Given the description of an element on the screen output the (x, y) to click on. 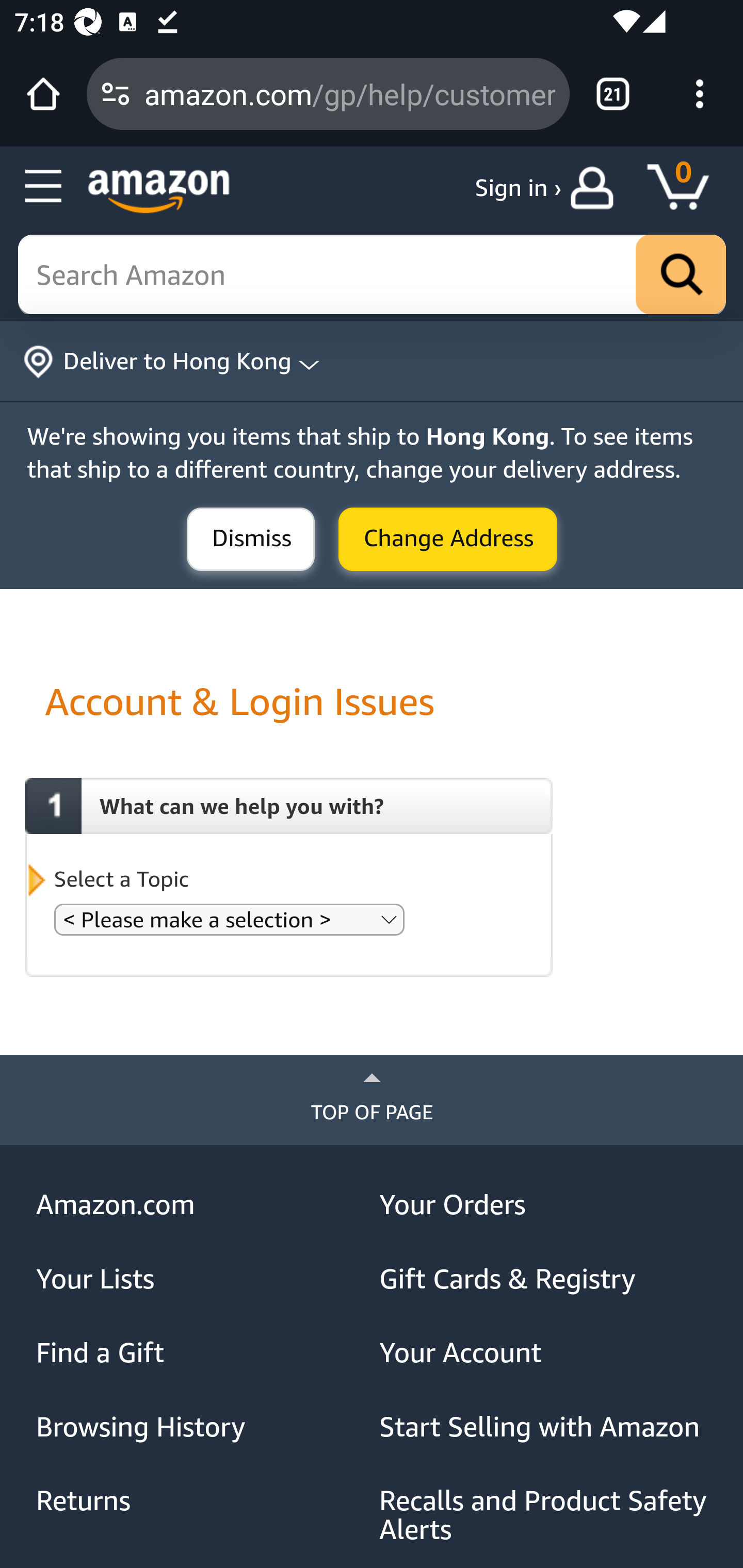
Open the home page (43, 93)
Connection is secure (115, 93)
Switch or close tabs (612, 93)
Customize and control Google Chrome (699, 93)
Open Menu (44, 187)
Sign in › (518, 188)
your account (596, 188)
Cart 0 (687, 188)
Amazon (158, 191)
Go (681, 275)
Submit (250, 539)
Submit (447, 539)
< Please make a selection > (229, 919)
Top of page TOP OF PAGE (371, 1099)
Amazon.com (201, 1204)
Your Orders (543, 1204)
Your Lists (201, 1278)
Gift Cards & Registry (543, 1278)
Find a Gift (201, 1352)
Your Account (543, 1352)
Browsing History (201, 1426)
Start Selling with Amazon (543, 1426)
Returns (201, 1500)
Recalls and Product Safety Alerts (543, 1515)
